Given the description of an element on the screen output the (x, y) to click on. 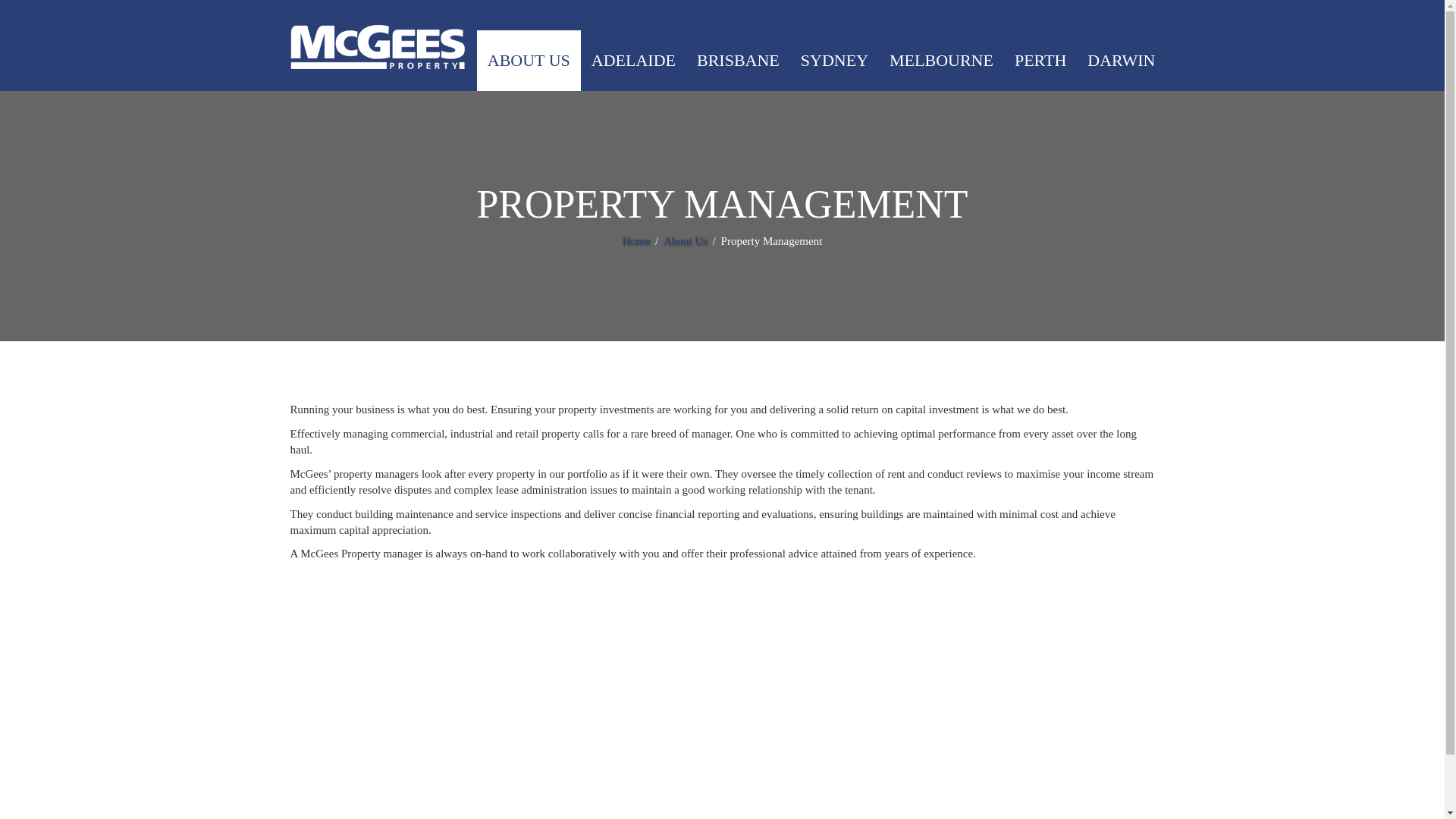
DARWIN (1121, 60)
MELBOURNE (941, 60)
About Us (686, 241)
PERTH (1040, 60)
Home (637, 241)
SYDNEY (834, 60)
ADELAIDE (632, 60)
Home (637, 241)
About Us (686, 241)
ABOUT US (528, 60)
